Given the description of an element on the screen output the (x, y) to click on. 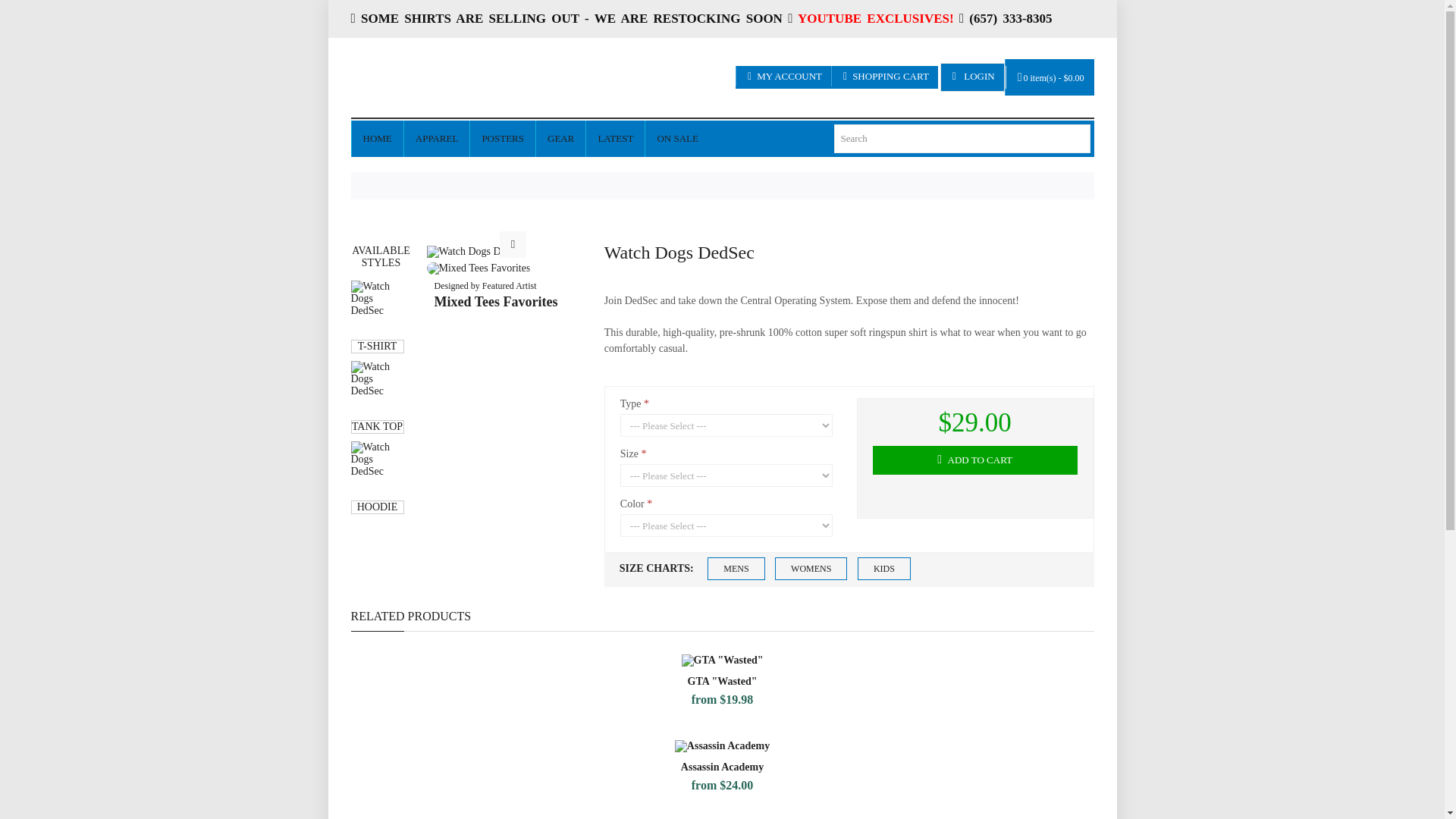
Watch Dogs DedSec (376, 306)
SHOPPING CART (884, 76)
APPAREL (437, 138)
MY ACCOUNT (783, 76)
Mixed Tees Favorites (477, 268)
LOGIN (973, 75)
Watch Dogs DedSec (475, 251)
Mixed Tees (473, 77)
Login (906, 241)
Watch Dogs DedSec (475, 250)
